Given the description of an element on the screen output the (x, y) to click on. 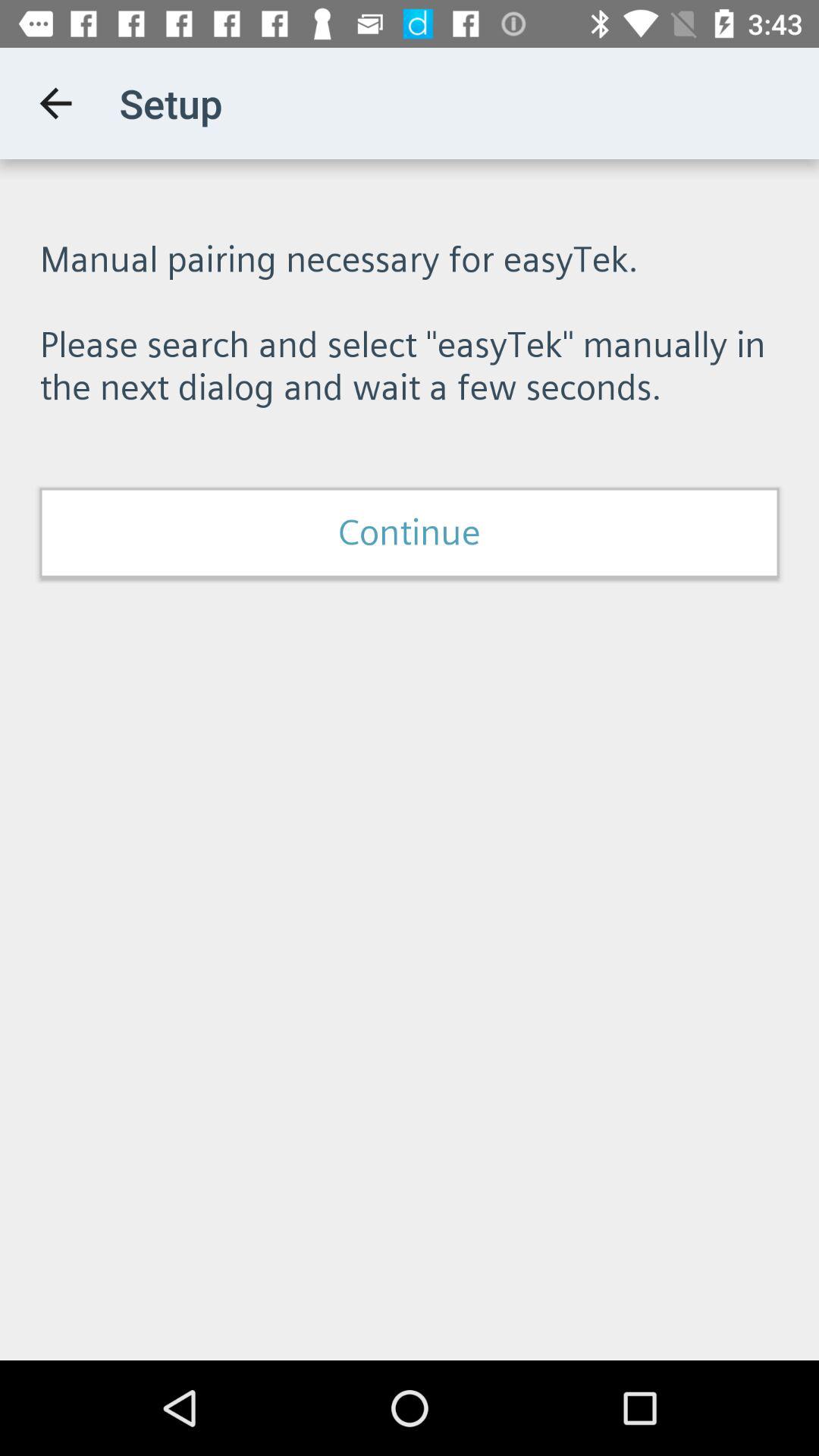
scroll until the continue item (409, 532)
